Given the description of an element on the screen output the (x, y) to click on. 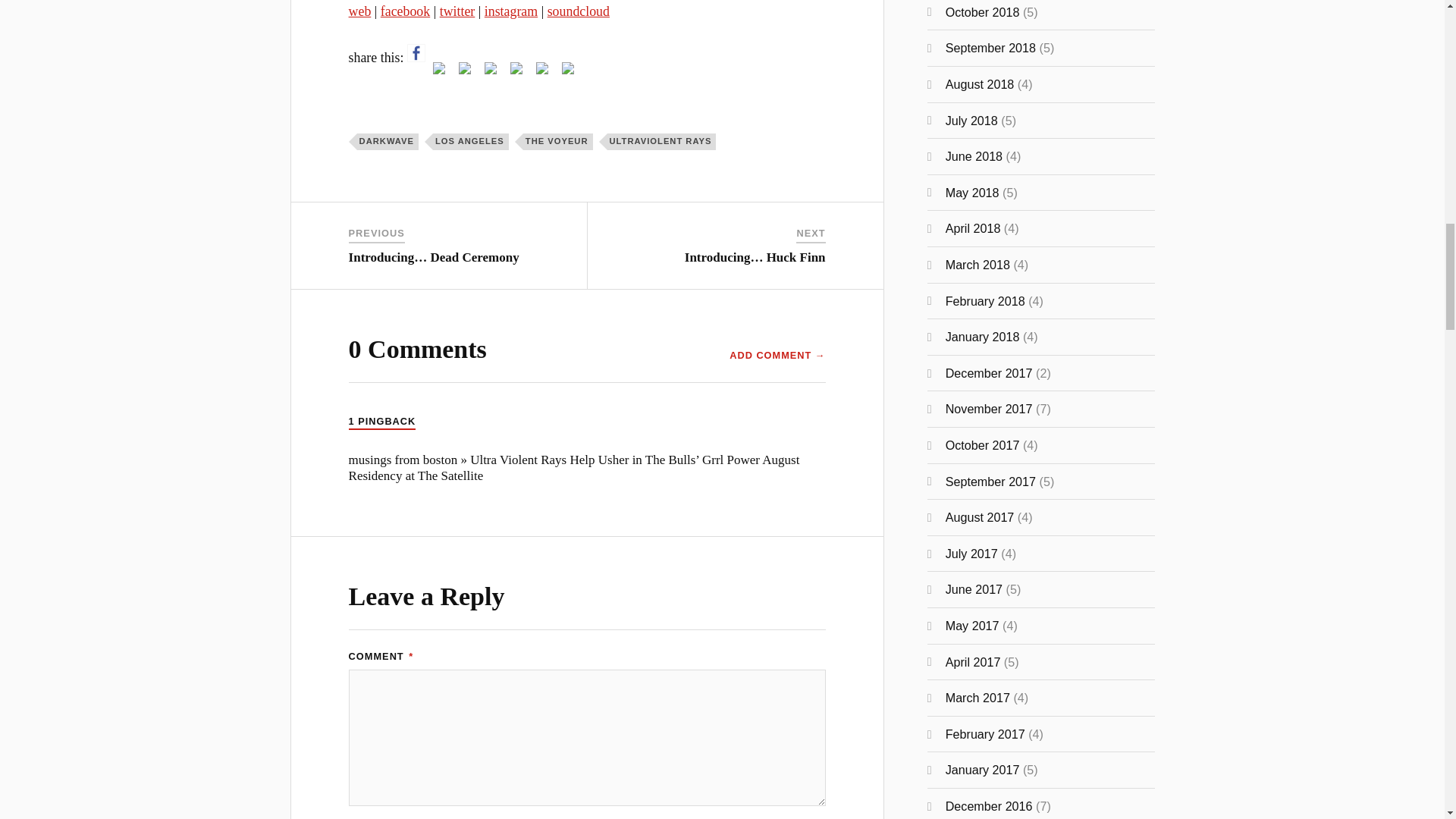
Share on Twitter (441, 71)
twitter (457, 11)
soundcloud (578, 11)
LOS ANGELES (470, 141)
web (360, 11)
Share on Reddit (464, 68)
Share on Linkedin (516, 68)
facebook (404, 11)
THE VOYEUR (557, 141)
instagram (510, 11)
